Given the description of an element on the screen output the (x, y) to click on. 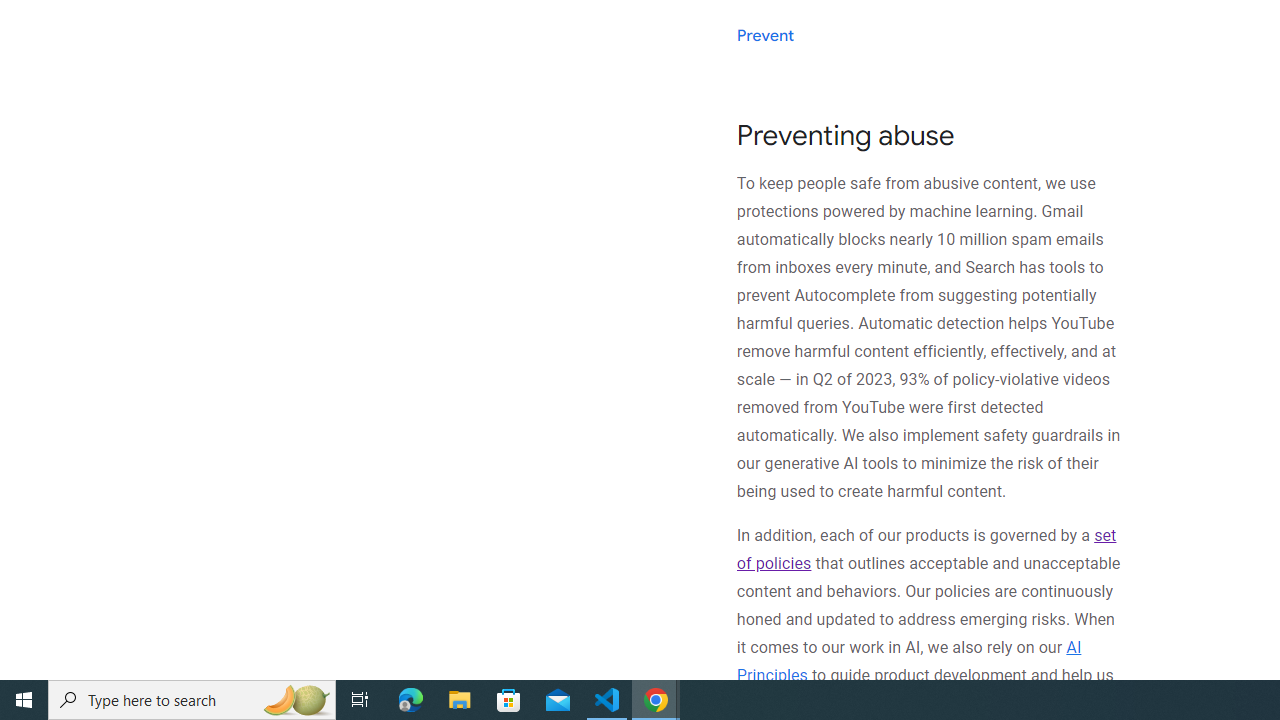
AI Principles (908, 660)
set of policies (926, 549)
